Given the description of an element on the screen output the (x, y) to click on. 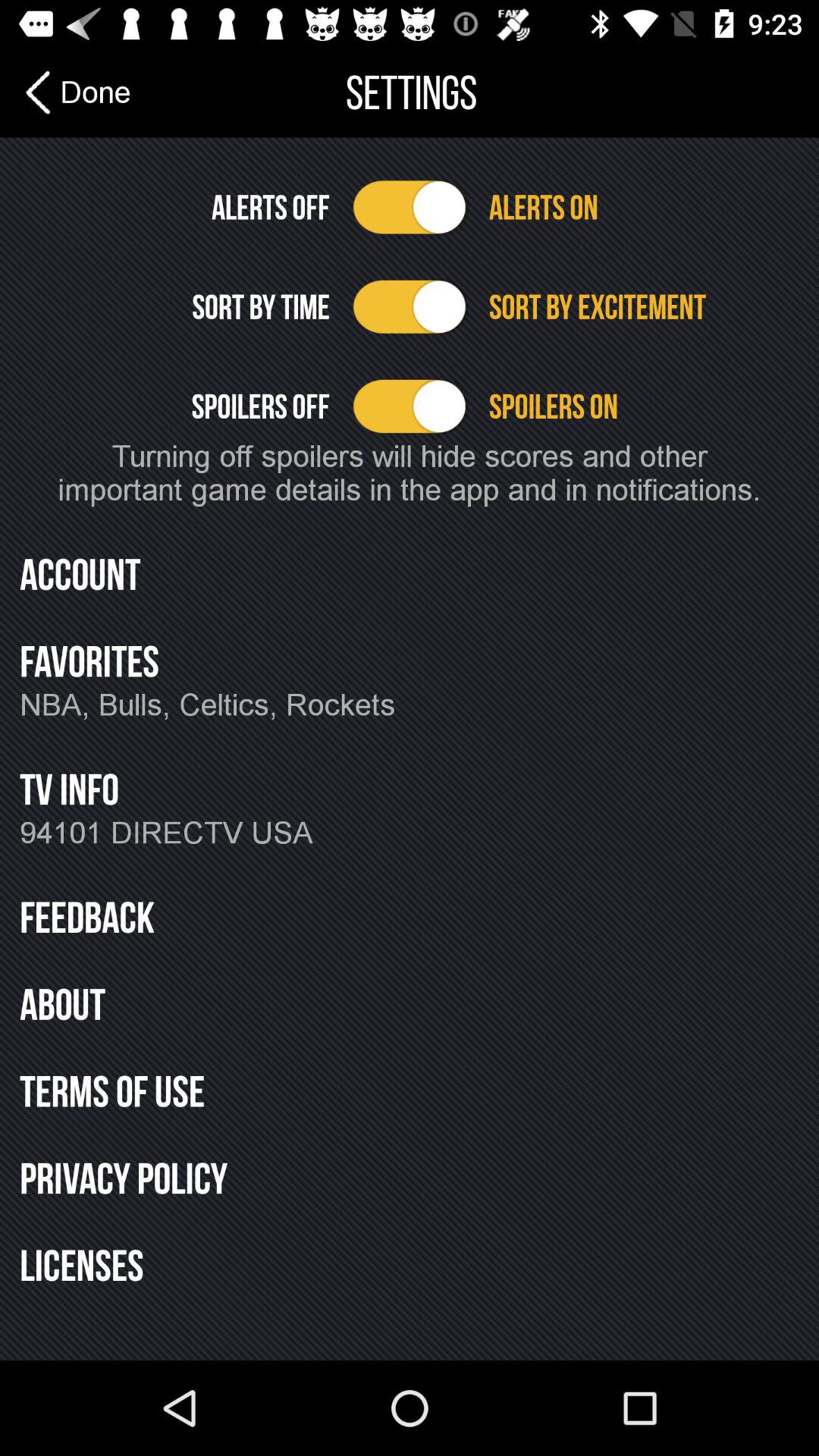
toggle spoilers option (409, 406)
